Given the description of an element on the screen output the (x, y) to click on. 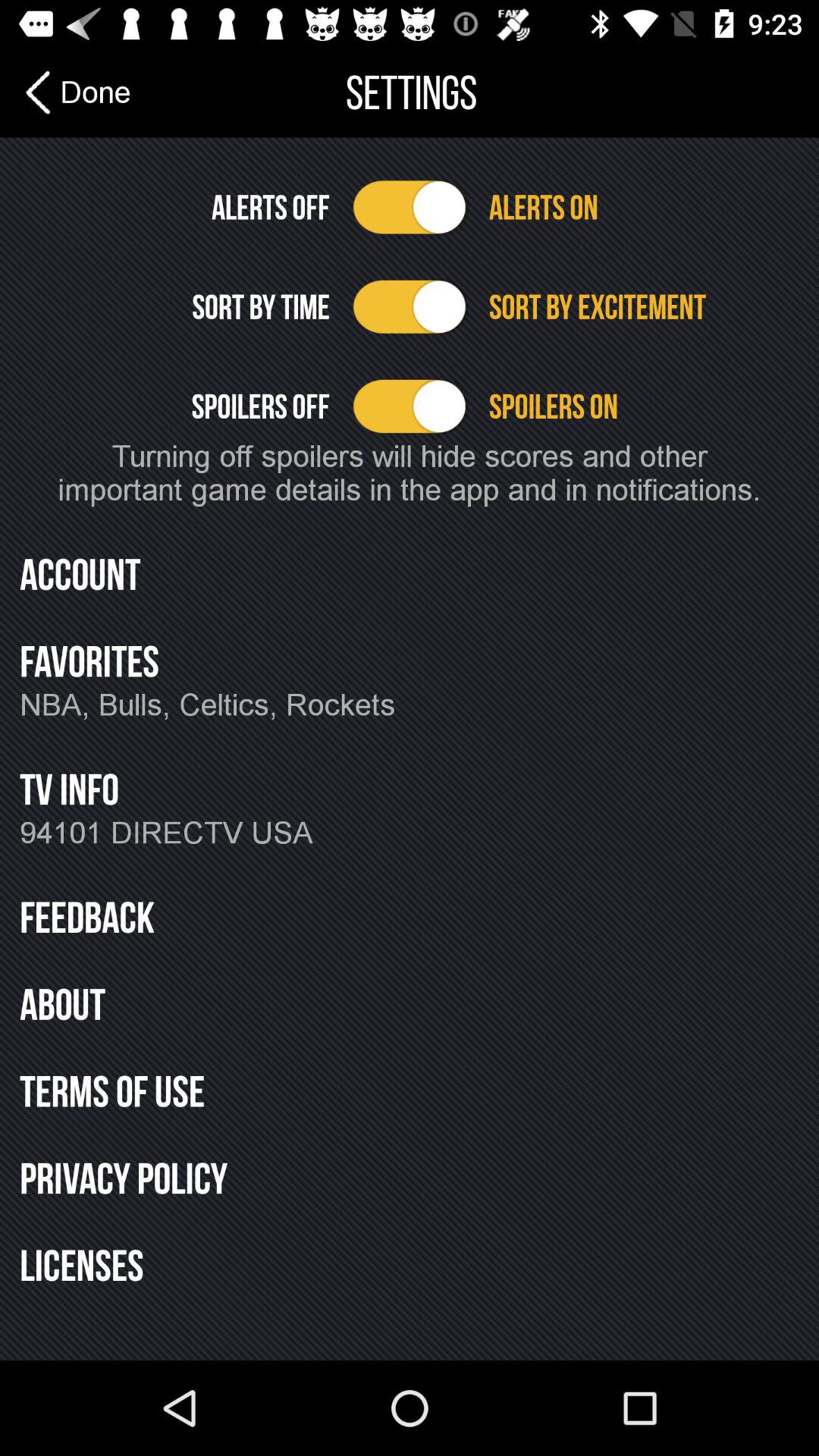
toggle spoilers option (409, 406)
